Given the description of an element on the screen output the (x, y) to click on. 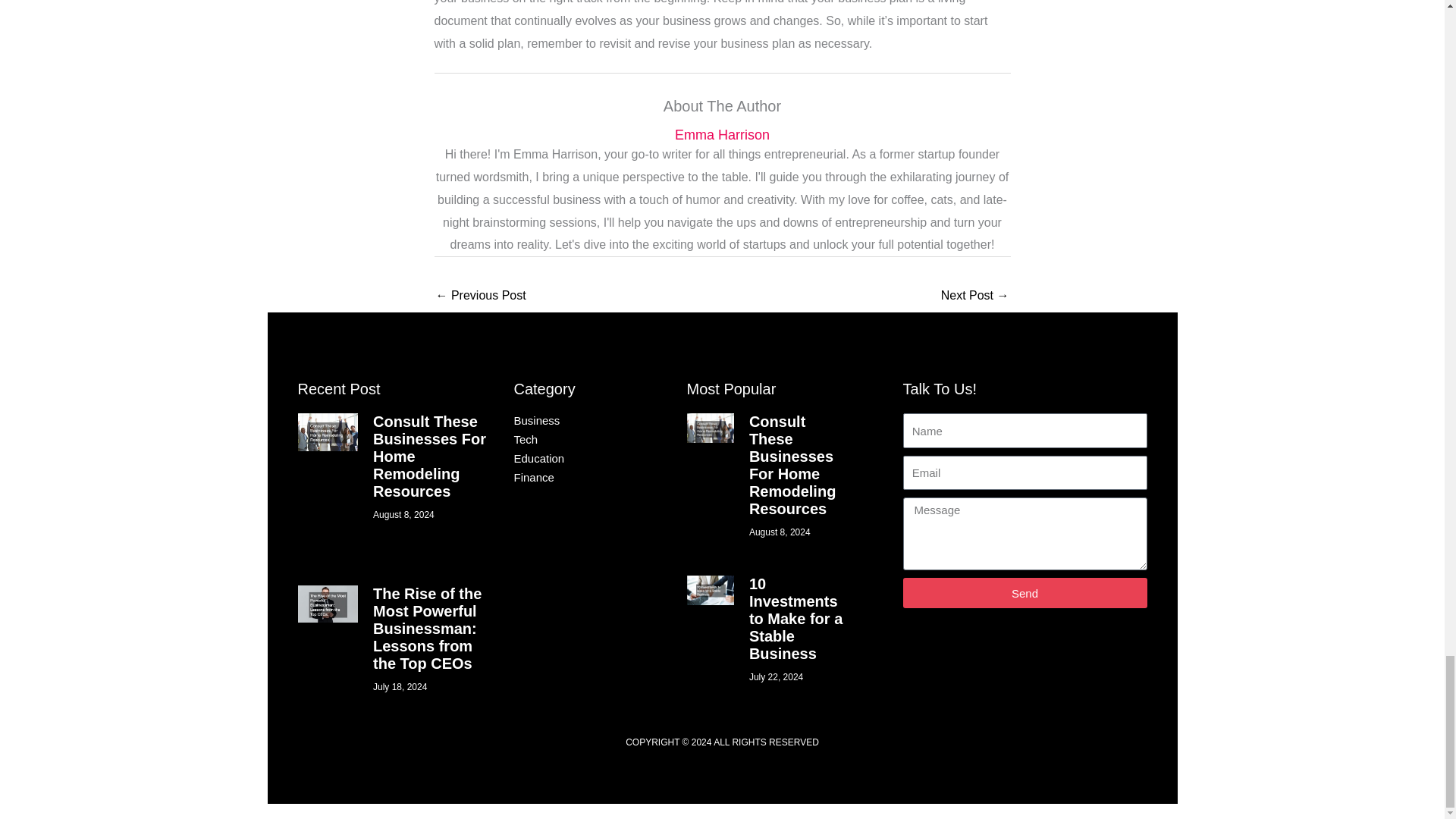
How To Nurture a Thriving Horticulture Business (480, 296)
Consult These Businesses For Home Remodeling Resources (429, 456)
Emma Harrison (721, 135)
Finance (575, 477)
5 Tips to Start an Industrial Business (974, 296)
Business (575, 420)
10 Investments to Make for a Stable Business (796, 618)
Education (575, 458)
Send (1024, 593)
